Given the description of an element on the screen output the (x, y) to click on. 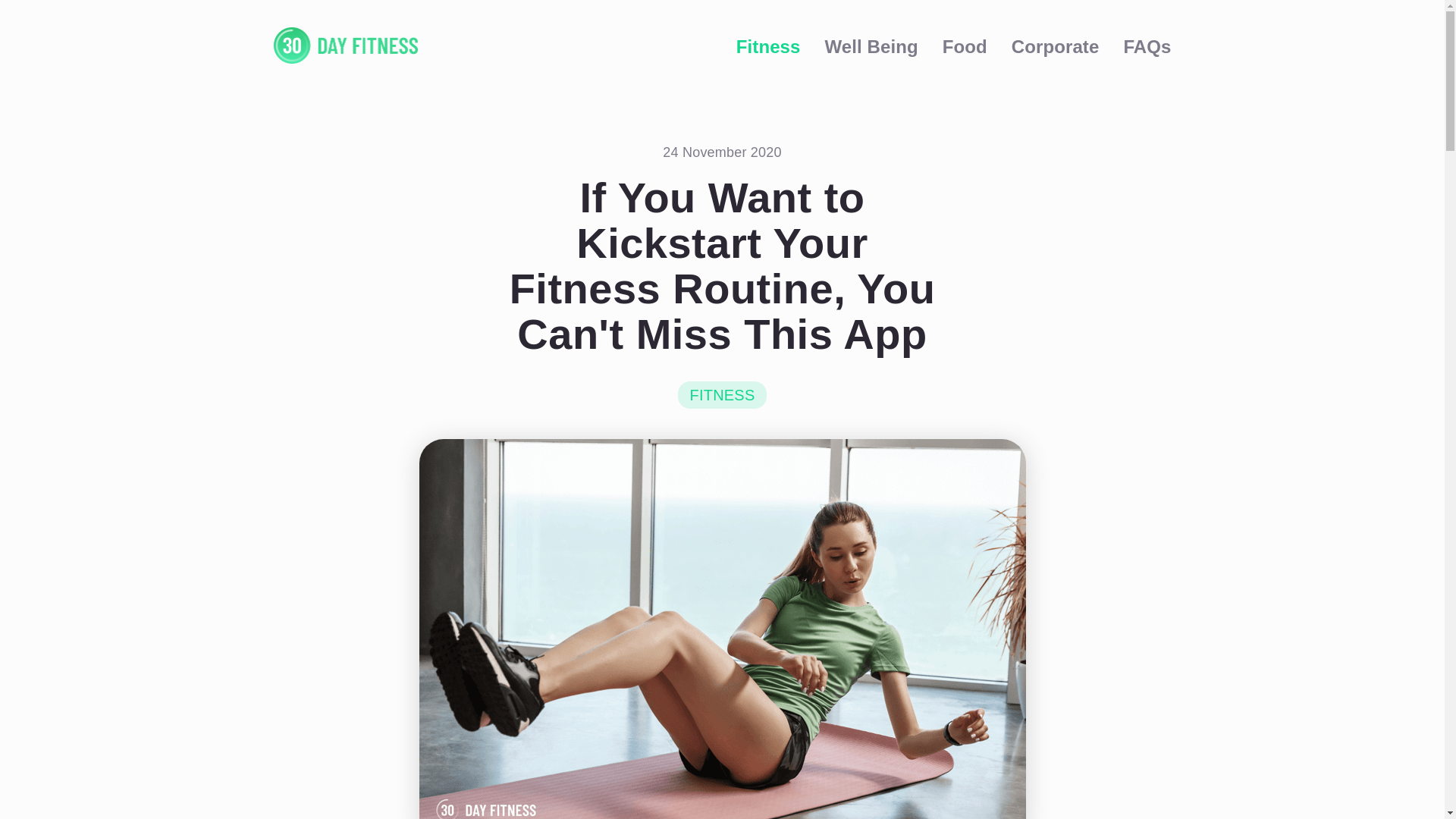
Well Being (871, 46)
Food (964, 46)
FAQs (1146, 46)
Fitness (768, 46)
Corporate (1055, 46)
FITNESS (722, 394)
